Given the description of an element on the screen output the (x, y) to click on. 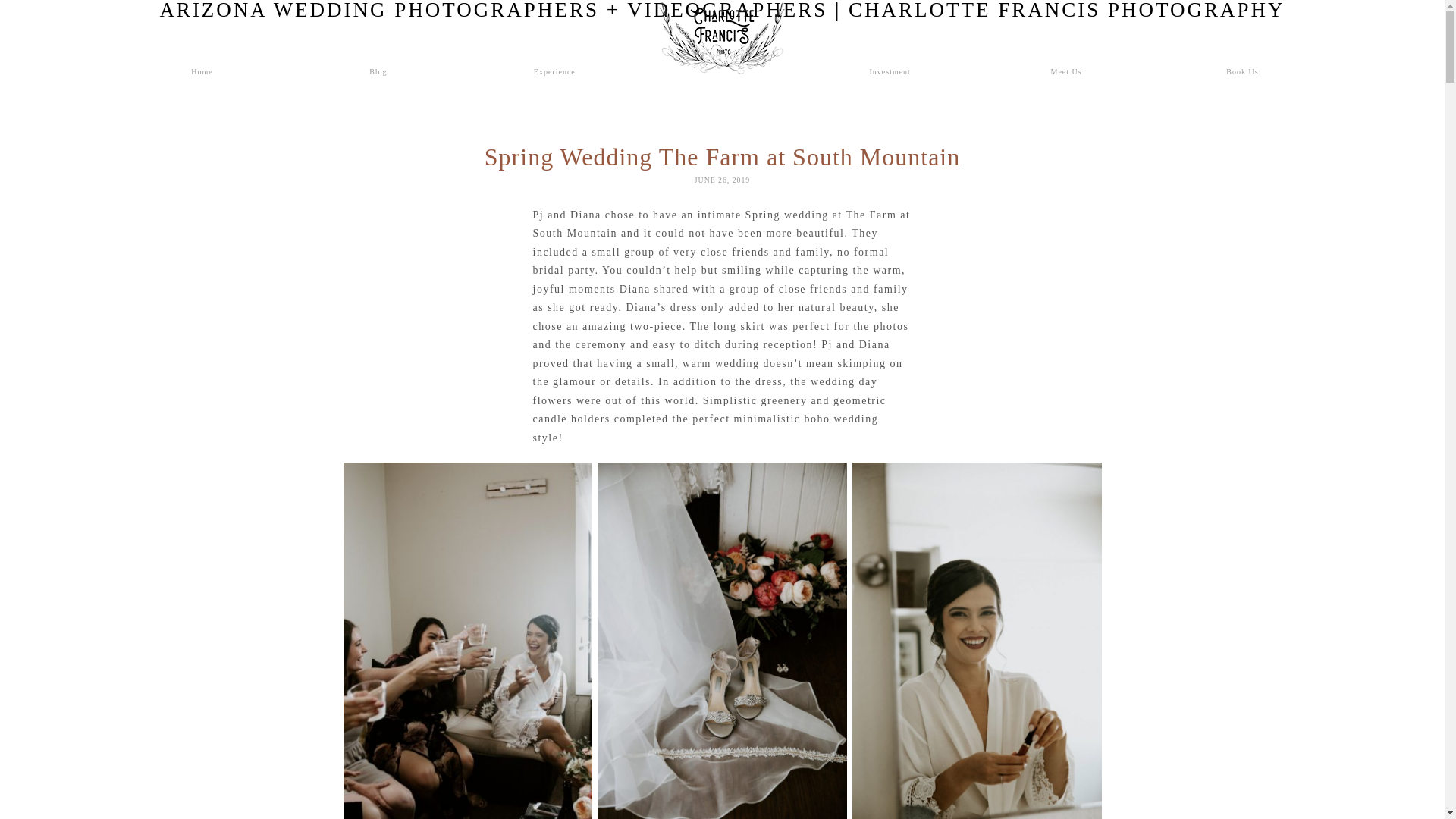
Book Us (1241, 71)
Meet Us (1065, 71)
Blog (378, 71)
JUNE 26, 2019 (721, 180)
Investment (889, 71)
Experience (554, 71)
Home (202, 71)
